Given the description of an element on the screen output the (x, y) to click on. 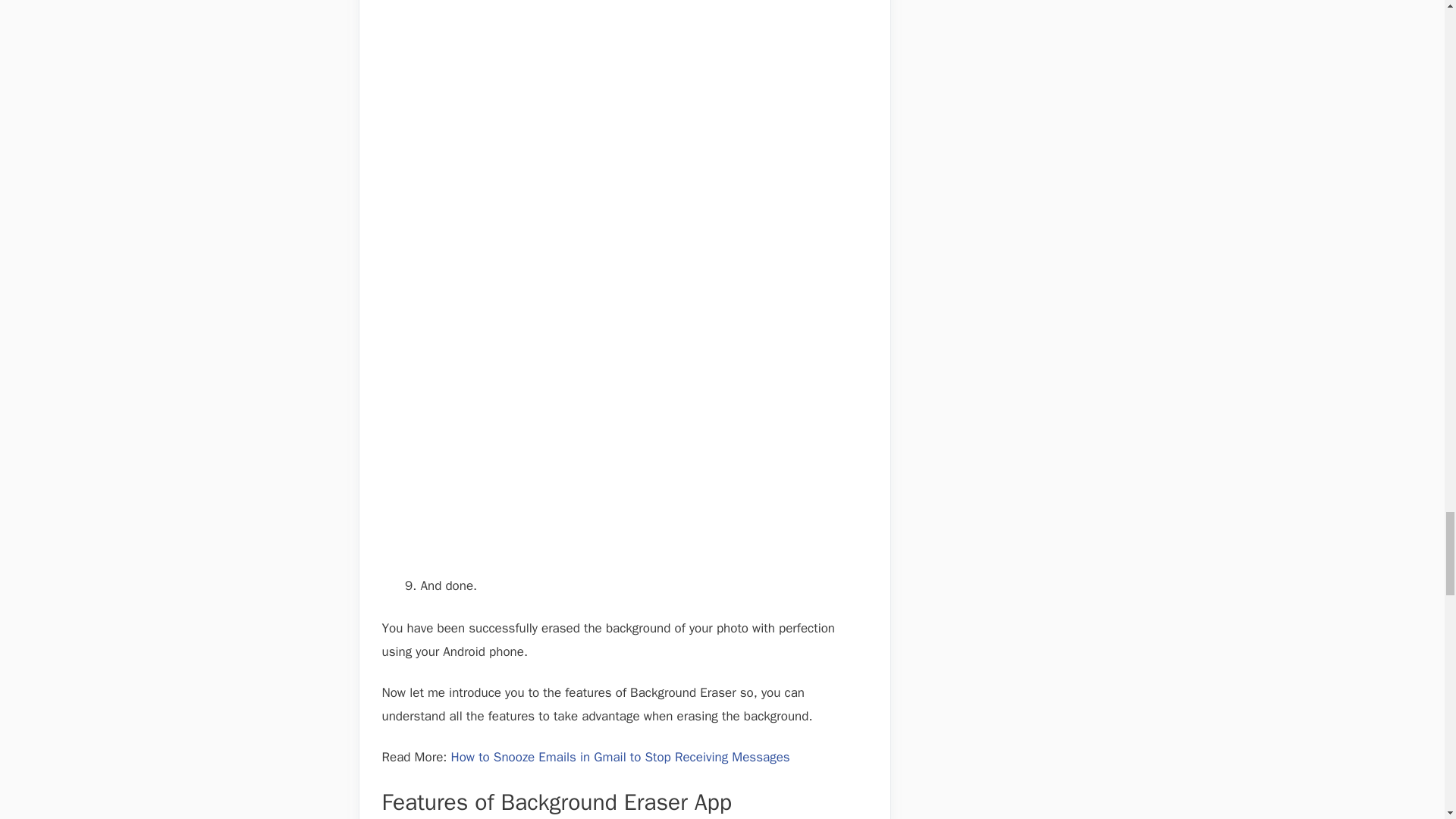
How to Snooze Emails in Gmail to Stop Receiving Messages  (621, 756)
